Given the description of an element on the screen output the (x, y) to click on. 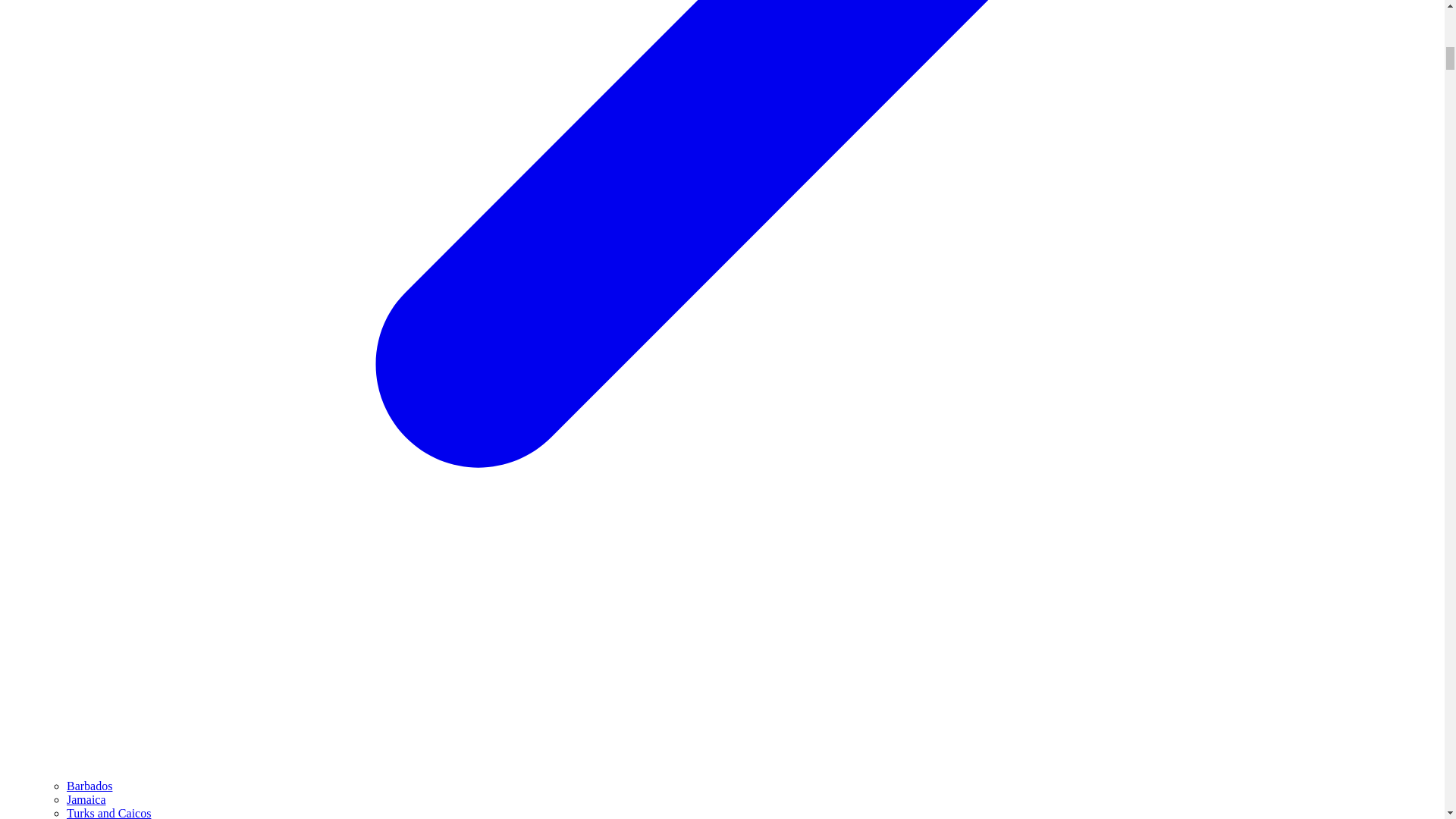
Turks and Caicos (108, 812)
Barbados (89, 785)
Jamaica (86, 799)
